Given the description of an element on the screen output the (x, y) to click on. 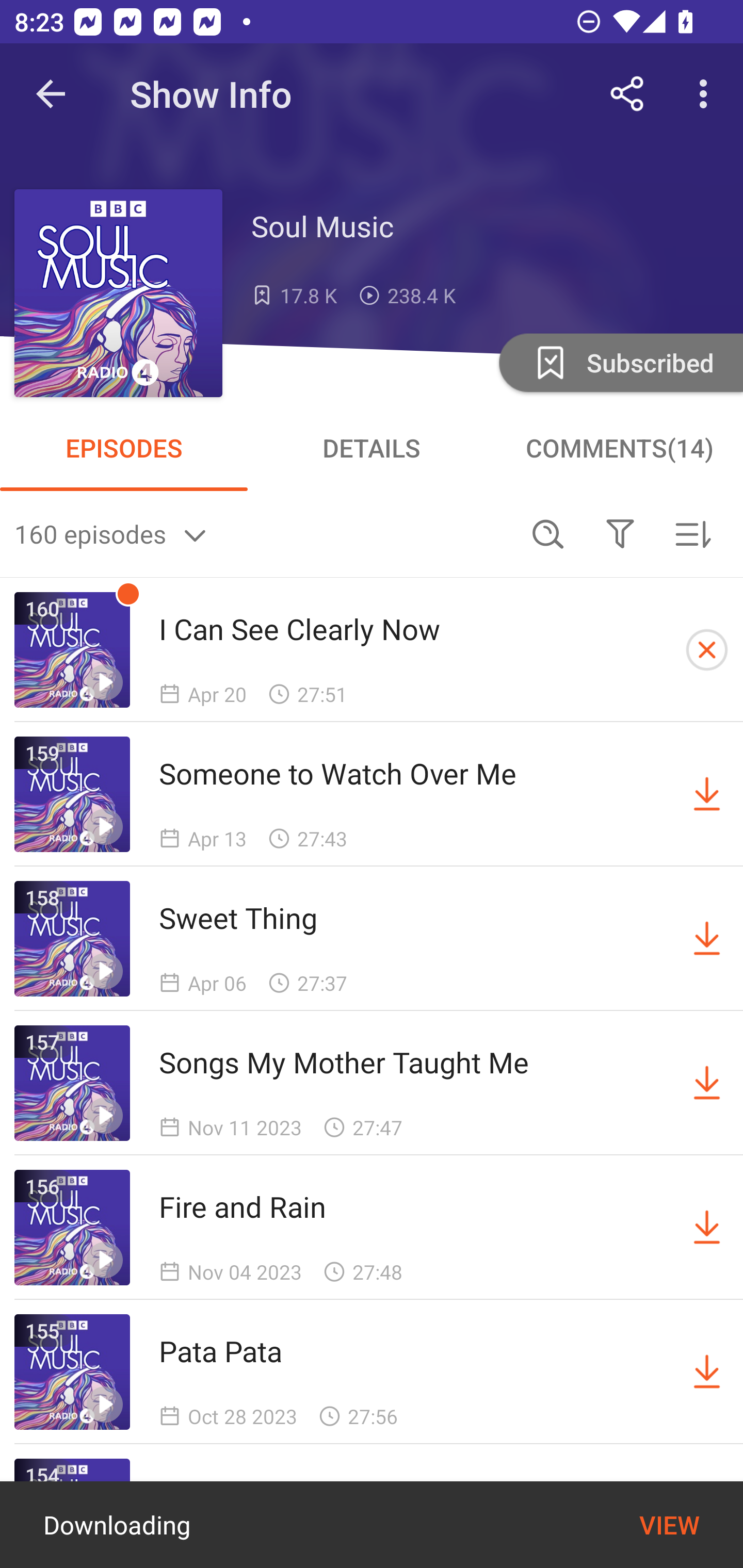
Navigate up (50, 93)
Share (626, 93)
More options (706, 93)
Unsubscribe Subscribed (619, 361)
EPISODES (123, 447)
DETAILS (371, 447)
COMMENTS(14) (619, 447)
160 episodes  (262, 533)
 Search (547, 533)
 (619, 533)
 Sorted by newest first (692, 533)
Cancel Downloading (706, 649)
Download (706, 793)
Download (706, 939)
Download (706, 1083)
Download (706, 1227)
Download (706, 1371)
VIEW (669, 1524)
